Given the description of an element on the screen output the (x, y) to click on. 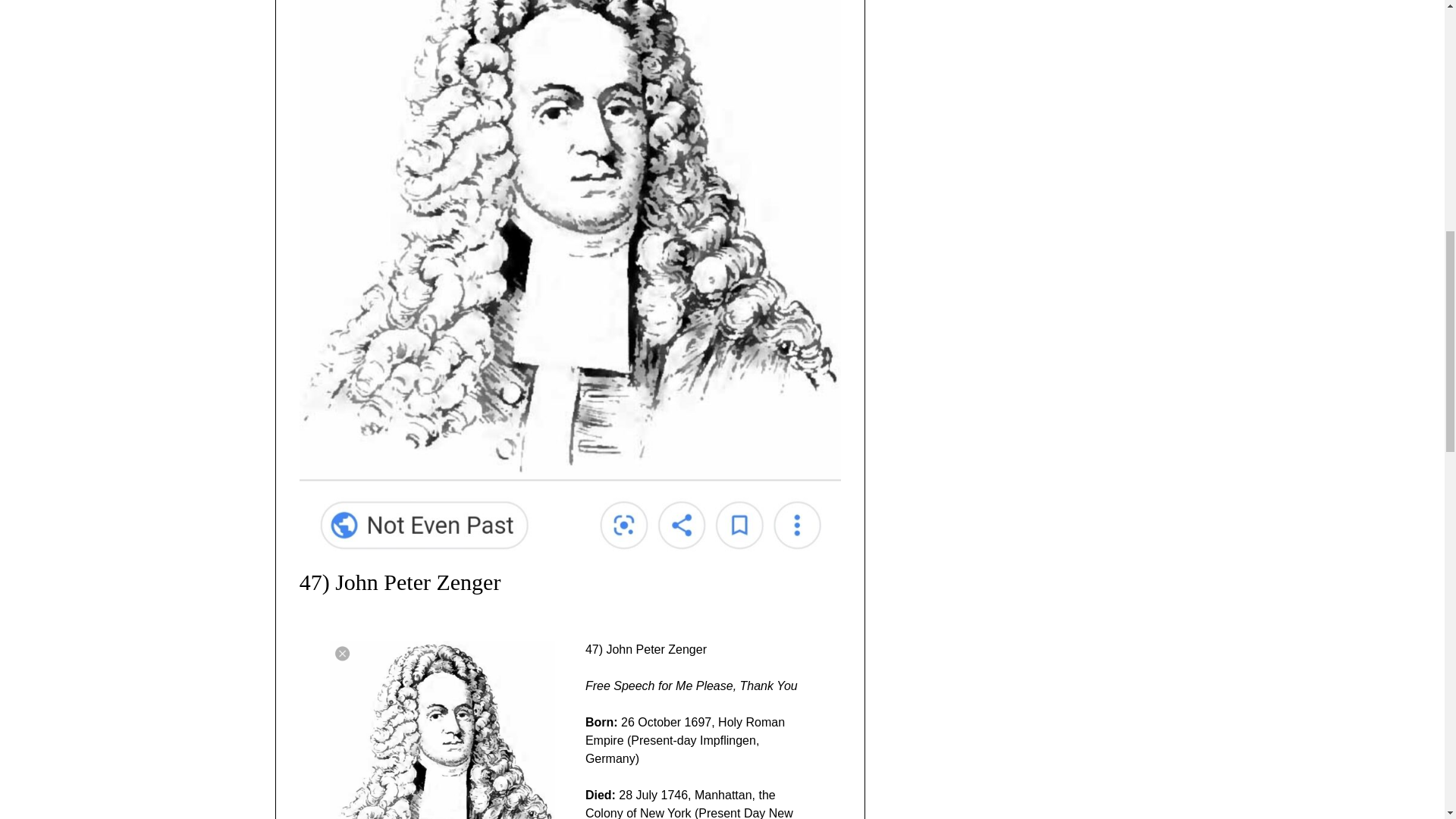
Courtesy of Not Even Past (442, 729)
